Given the description of an element on the screen output the (x, y) to click on. 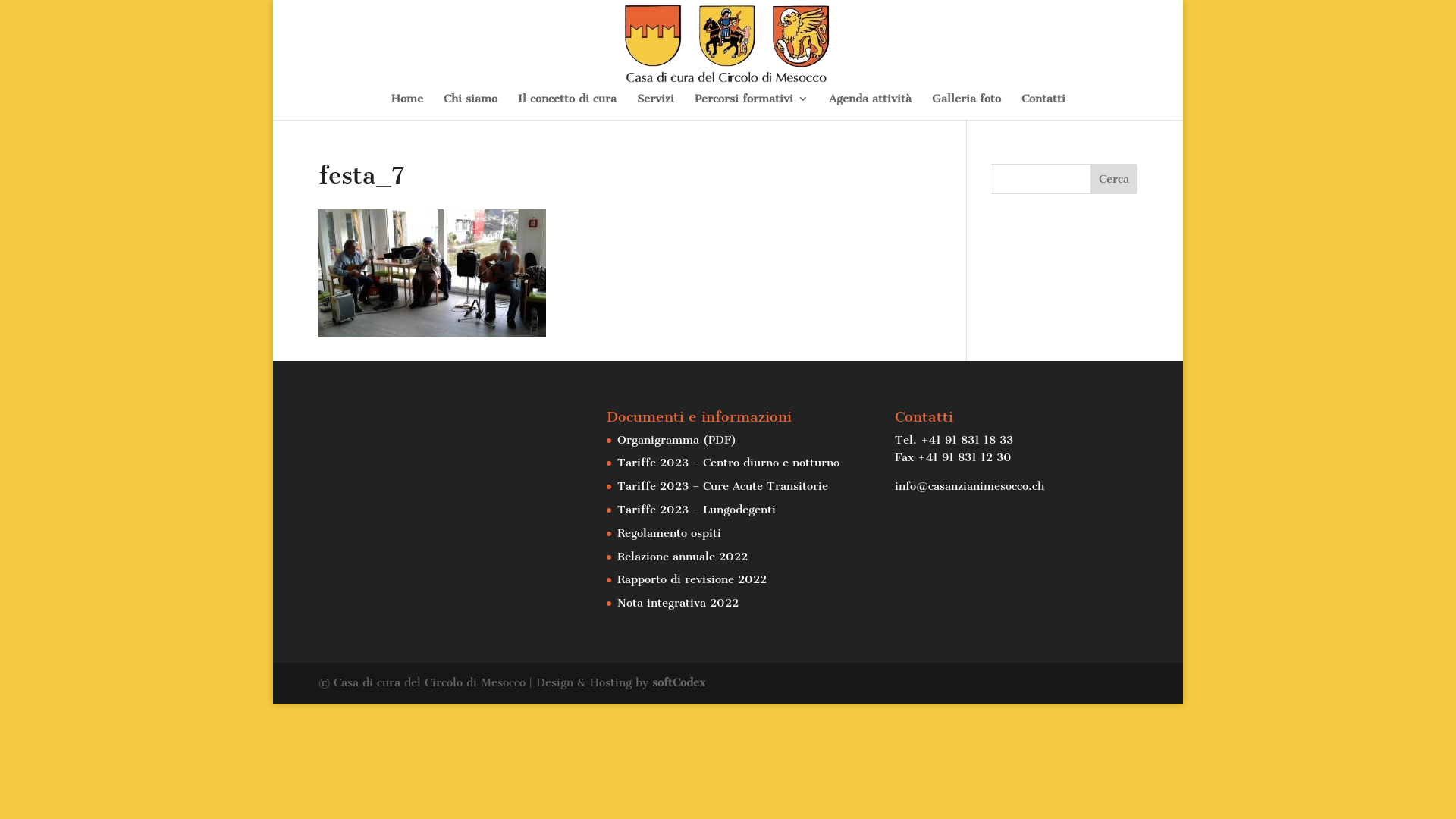
Cerca Element type: text (1113, 178)
Nota integrativa 2022 Element type: text (677, 602)
Regolamento ospiti Element type: text (669, 532)
Contatti Element type: text (1042, 106)
Relazione annuale 2022 Element type: text (682, 556)
Chi siamo Element type: text (469, 106)
Il concetto di cura Element type: text (566, 106)
Home Element type: text (407, 106)
Organigramma (PDF) Element type: text (676, 439)
Galleria foto Element type: text (965, 106)
Servizi Element type: text (655, 106)
softCodex Element type: text (678, 682)
Percorsi formativi Element type: text (751, 106)
Rapporto di revisione 2022 Element type: text (691, 579)
